Given the description of an element on the screen output the (x, y) to click on. 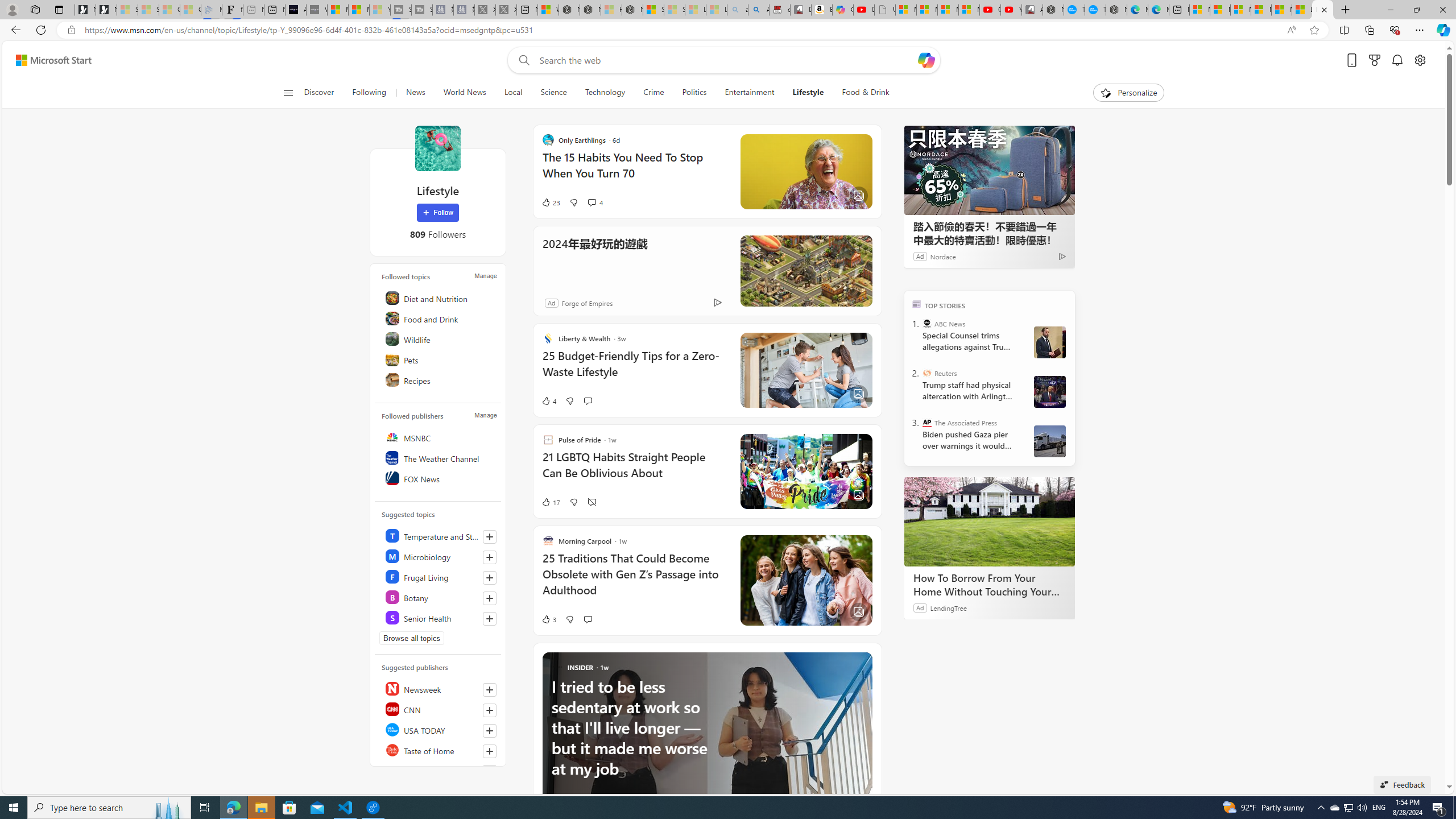
Address and search bar (680, 29)
Streaming Coverage | T3 - Sleeping (400, 9)
4 Like (547, 400)
Feedback (1402, 784)
World News (464, 92)
The 15 Habits You Need To Stop When You Turn 70 (633, 171)
25 Budget-Friendly Tips for a Zero-Waste Lifestyle (633, 369)
Food and Drink (439, 318)
What's the best AI voice generator? - voice.ai - Sleeping (316, 9)
Forge of Empires (587, 302)
MSNBC (439, 437)
